Given the description of an element on the screen output the (x, y) to click on. 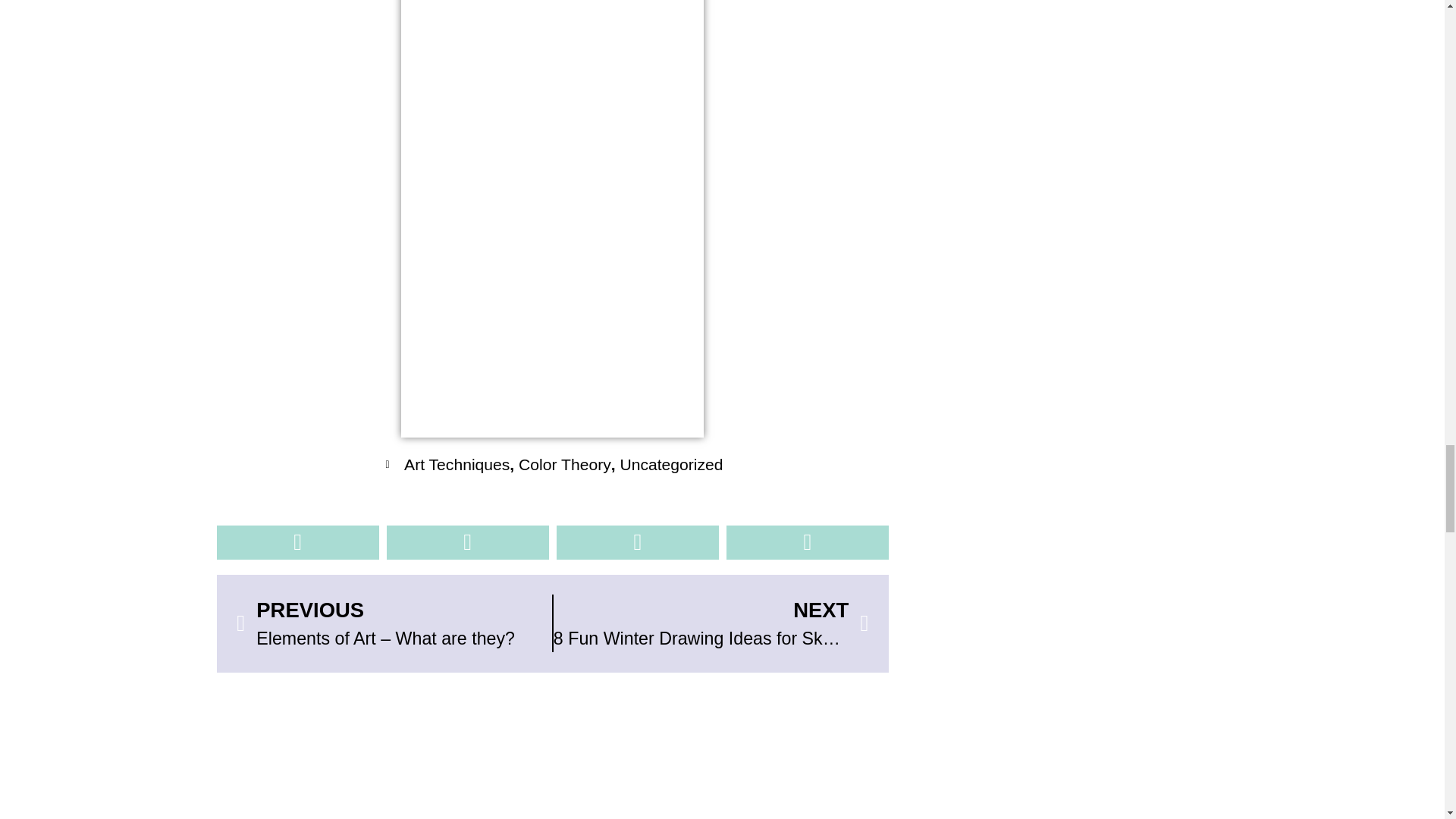
Color Theory (564, 464)
Art Techniques (456, 464)
Uncategorized (711, 622)
